Given the description of an element on the screen output the (x, y) to click on. 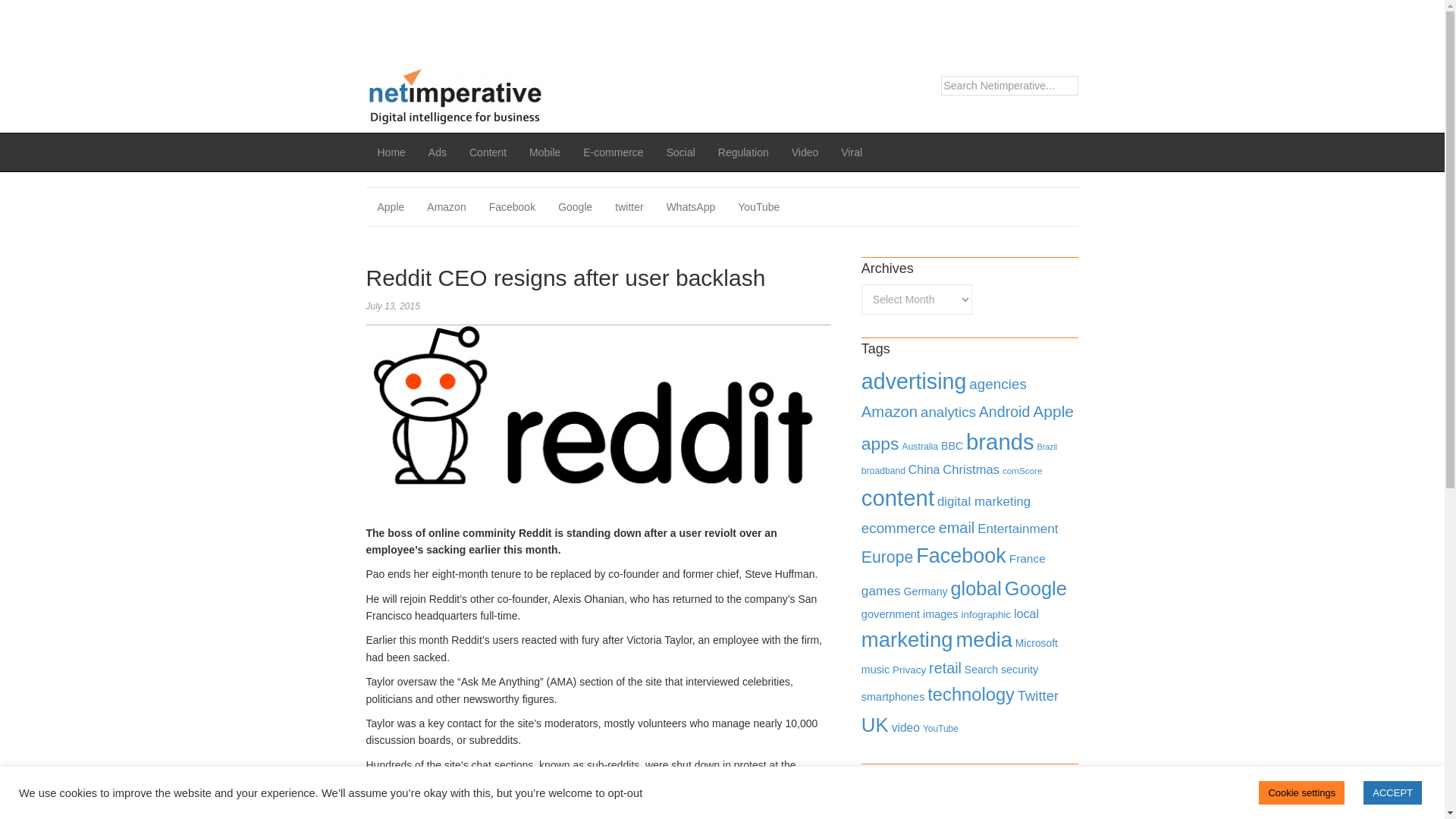
Ads (437, 152)
E-commerce (612, 152)
agencies (997, 383)
Home (390, 152)
WhatsApp (690, 207)
Content (488, 152)
Amazon (445, 207)
Google (575, 207)
